Given the description of an element on the screen output the (x, y) to click on. 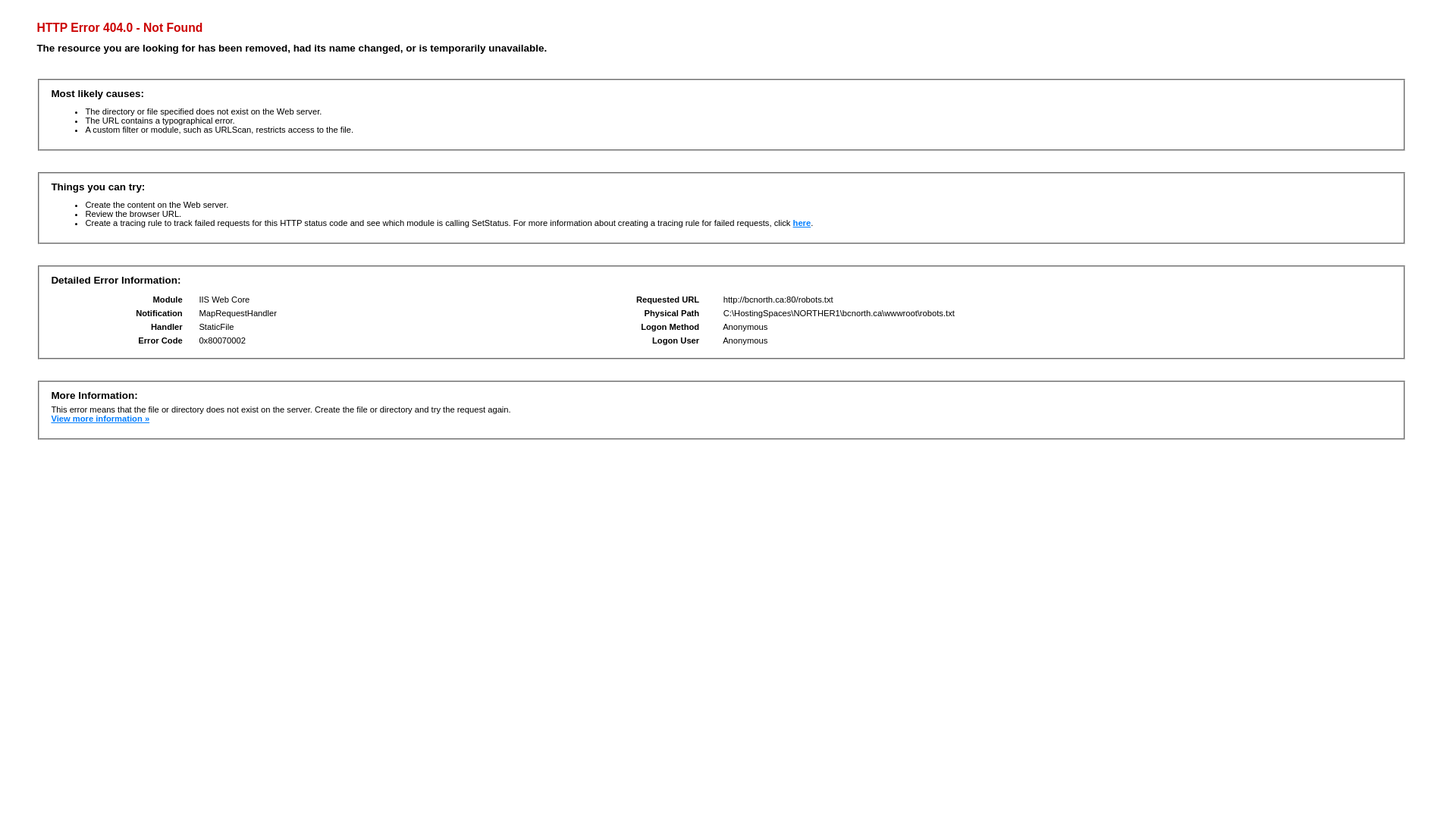
here Element type: text (802, 222)
